Given the description of an element on the screen output the (x, y) to click on. 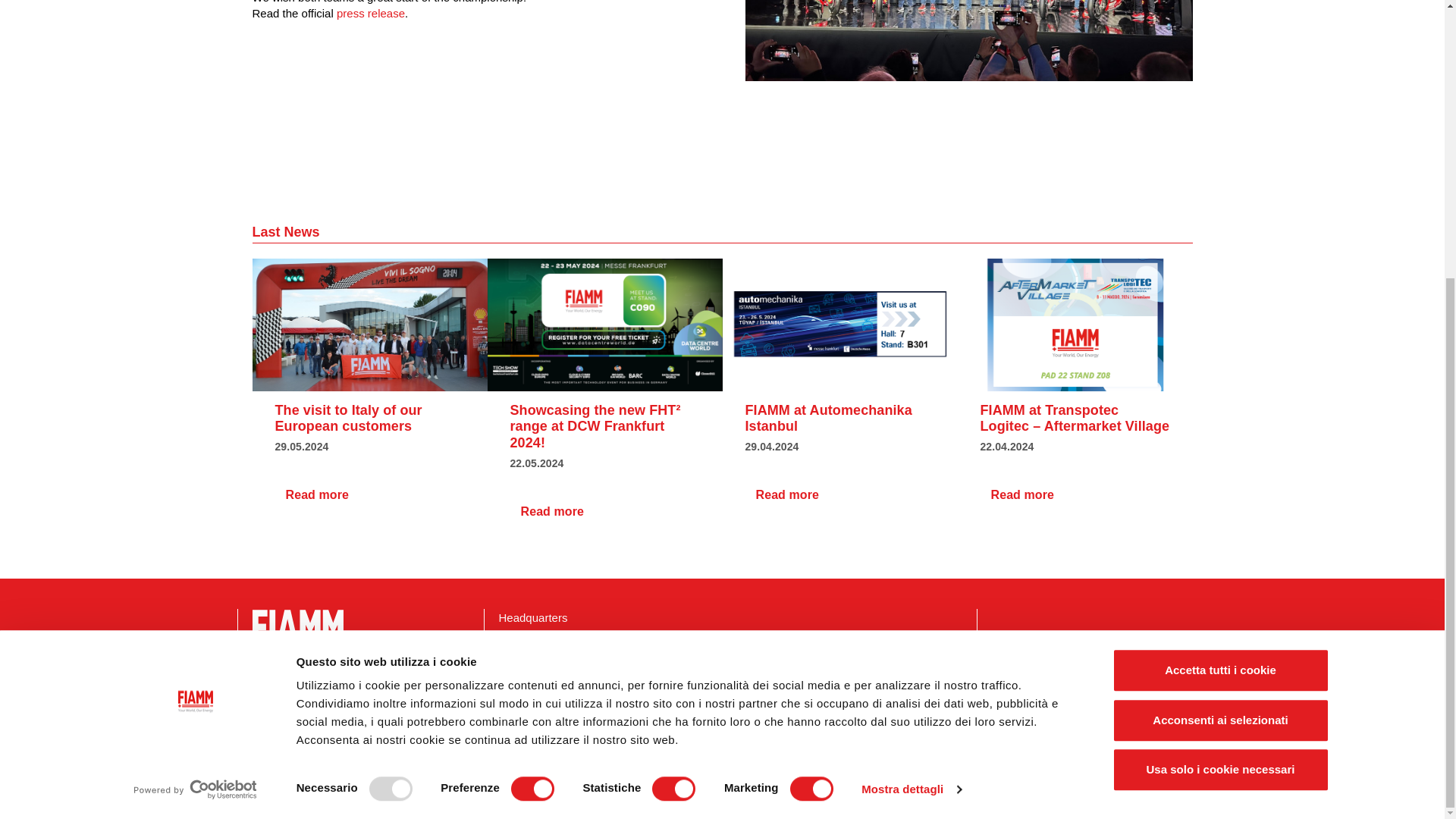
Mostra dettagli (910, 376)
